Given the description of an element on the screen output the (x, y) to click on. 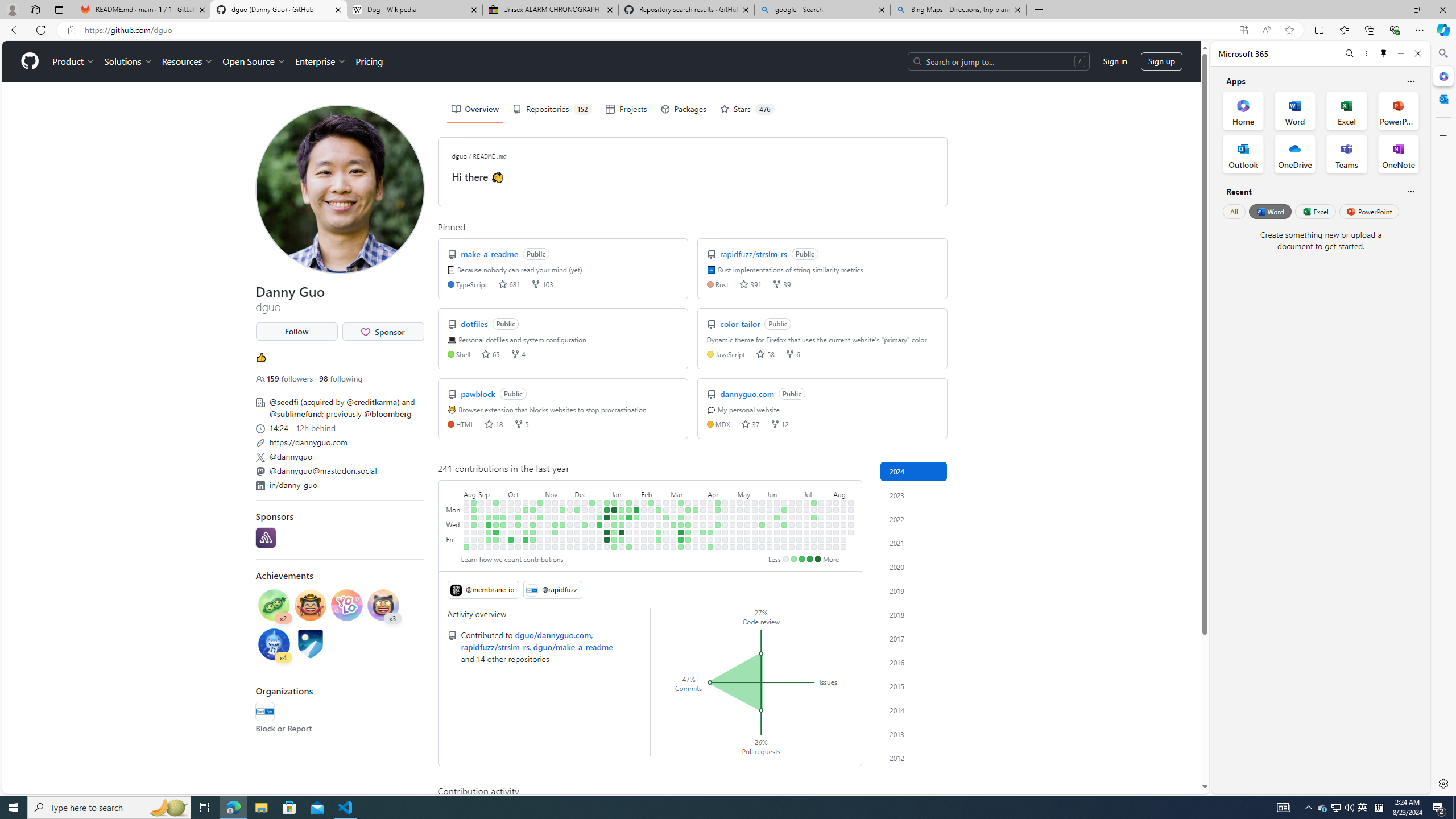
No contributions on May 14th. (747, 517)
No contributions on May 9th. (740, 531)
2 contributions on October 10th. (518, 517)
2 contributions on September 15th. (489, 539)
PowerPoint Office App (1398, 110)
No contributions on August 13th. (843, 517)
No contributions on August 15th. (843, 531)
No contributions on November 8th. (547, 524)
No contributions on December 22nd. (592, 539)
1 contribution on October 11th. (518, 524)
No contributions on June 4th. (770, 517)
Achievement: Quickdraw (310, 605)
